Given the description of an element on the screen output the (x, y) to click on. 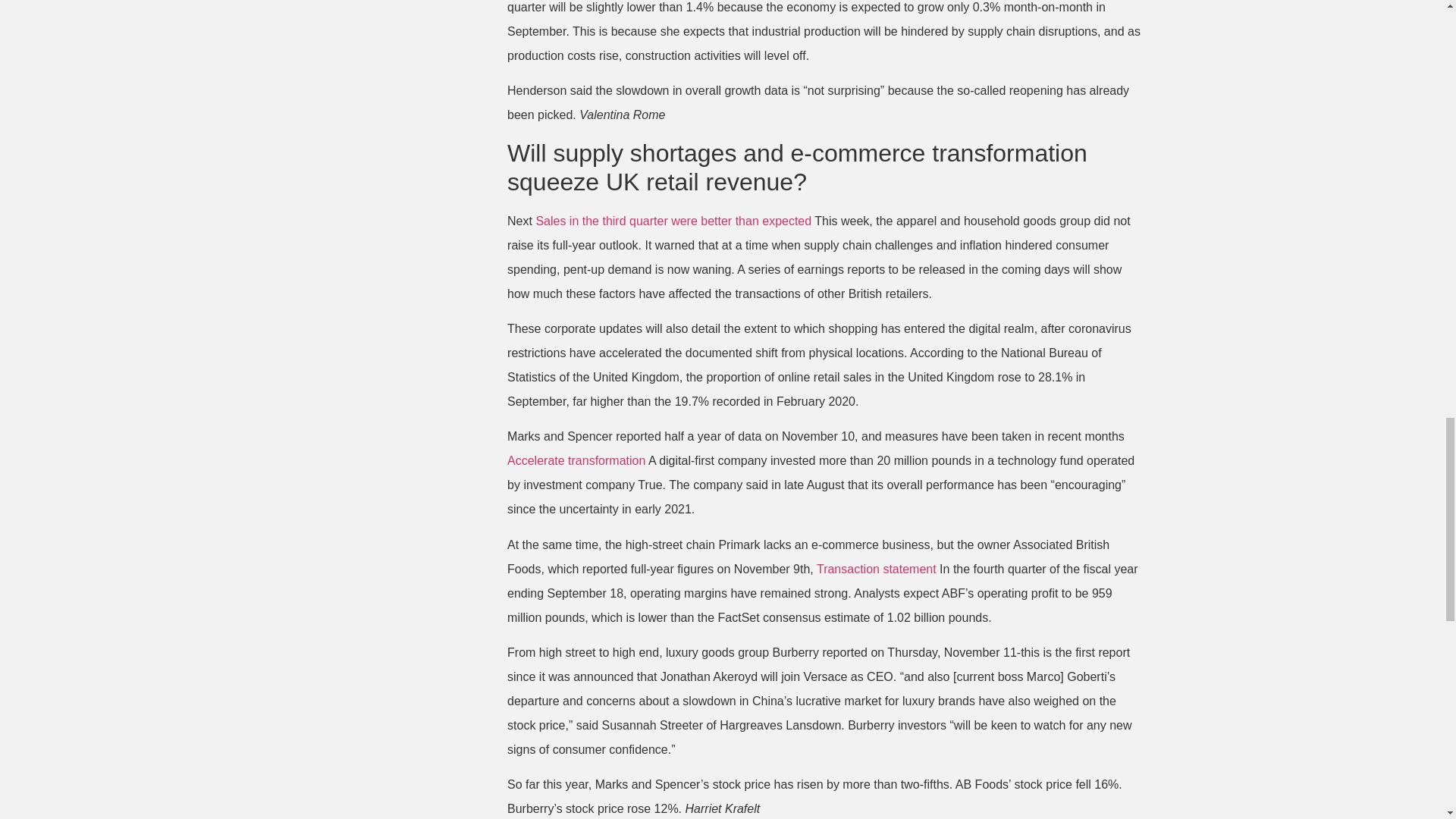
Transaction statement (876, 568)
Sales in the third quarter were better than expected (672, 220)
Accelerate transformation (575, 460)
